Given the description of an element on the screen output the (x, y) to click on. 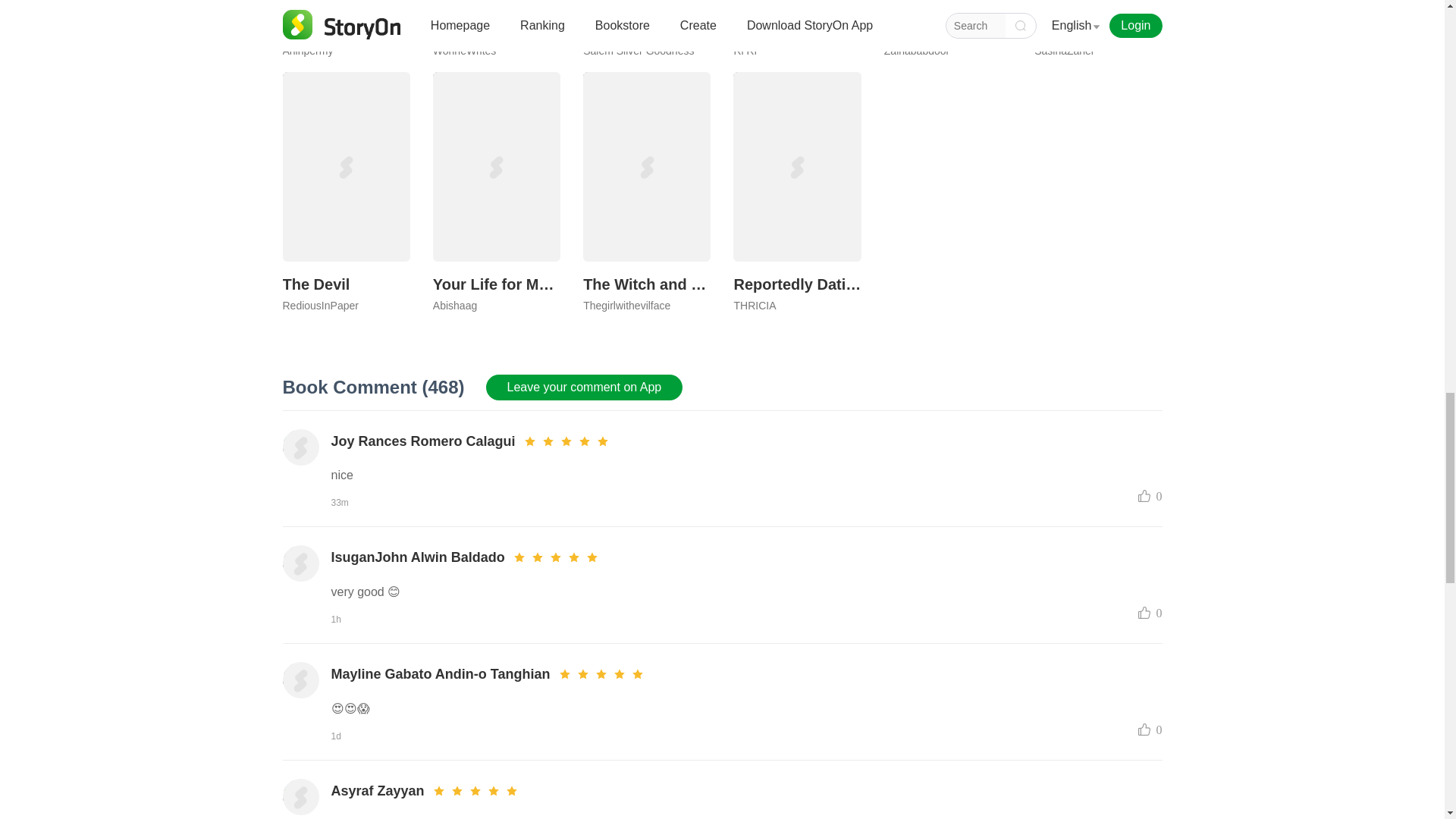
Leave your comment on App (947, 28)
